Given the description of an element on the screen output the (x, y) to click on. 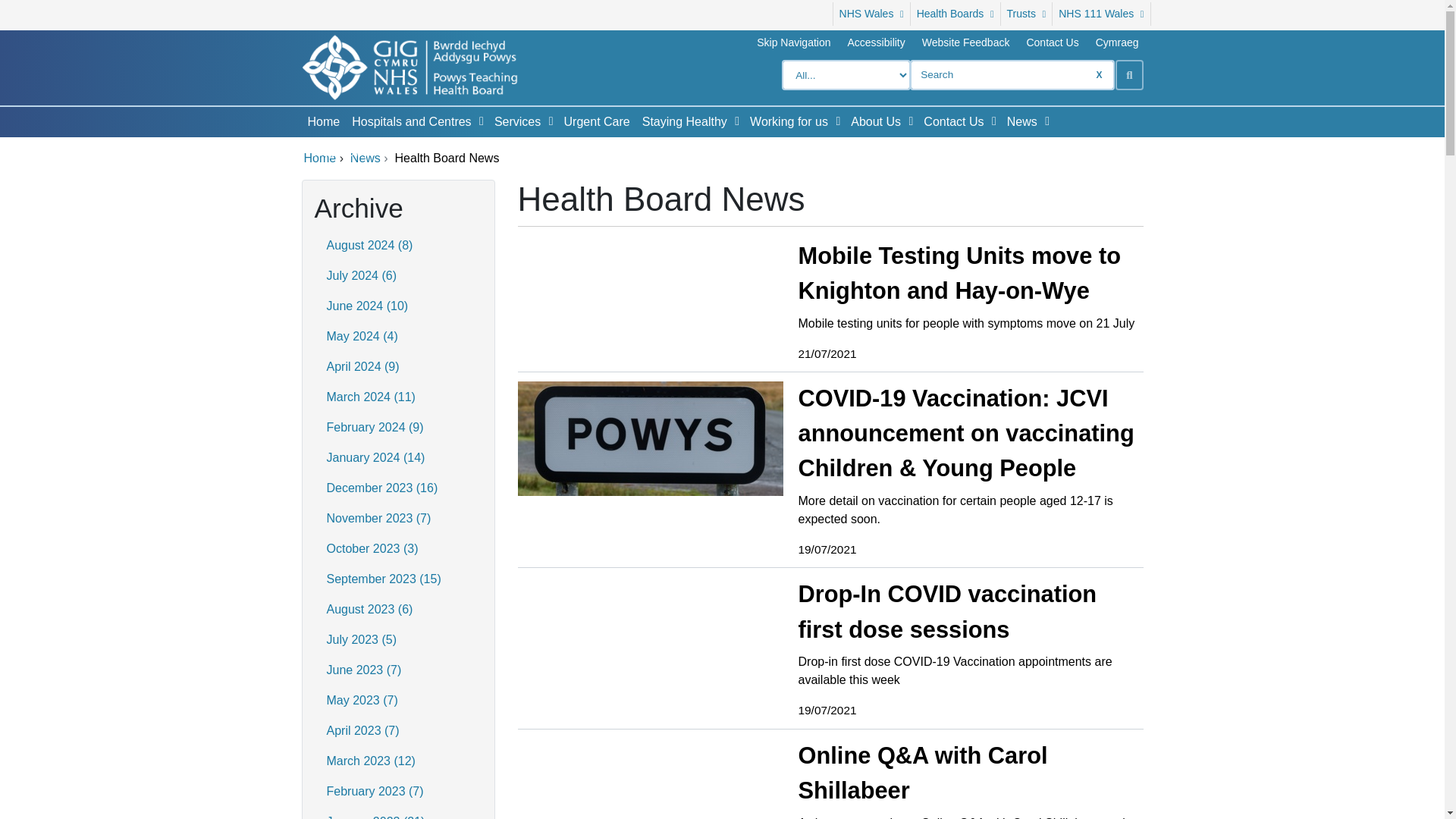
Search (1128, 74)
NHS 111 Wales (1101, 13)
Website Feedback (966, 42)
Cymraeg (1117, 42)
Accessibility (876, 42)
Services (513, 122)
Home (323, 122)
NHS Wales (871, 13)
Health Boards (955, 13)
Show Submenu For Services (550, 120)
